Given the description of an element on the screen output the (x, y) to click on. 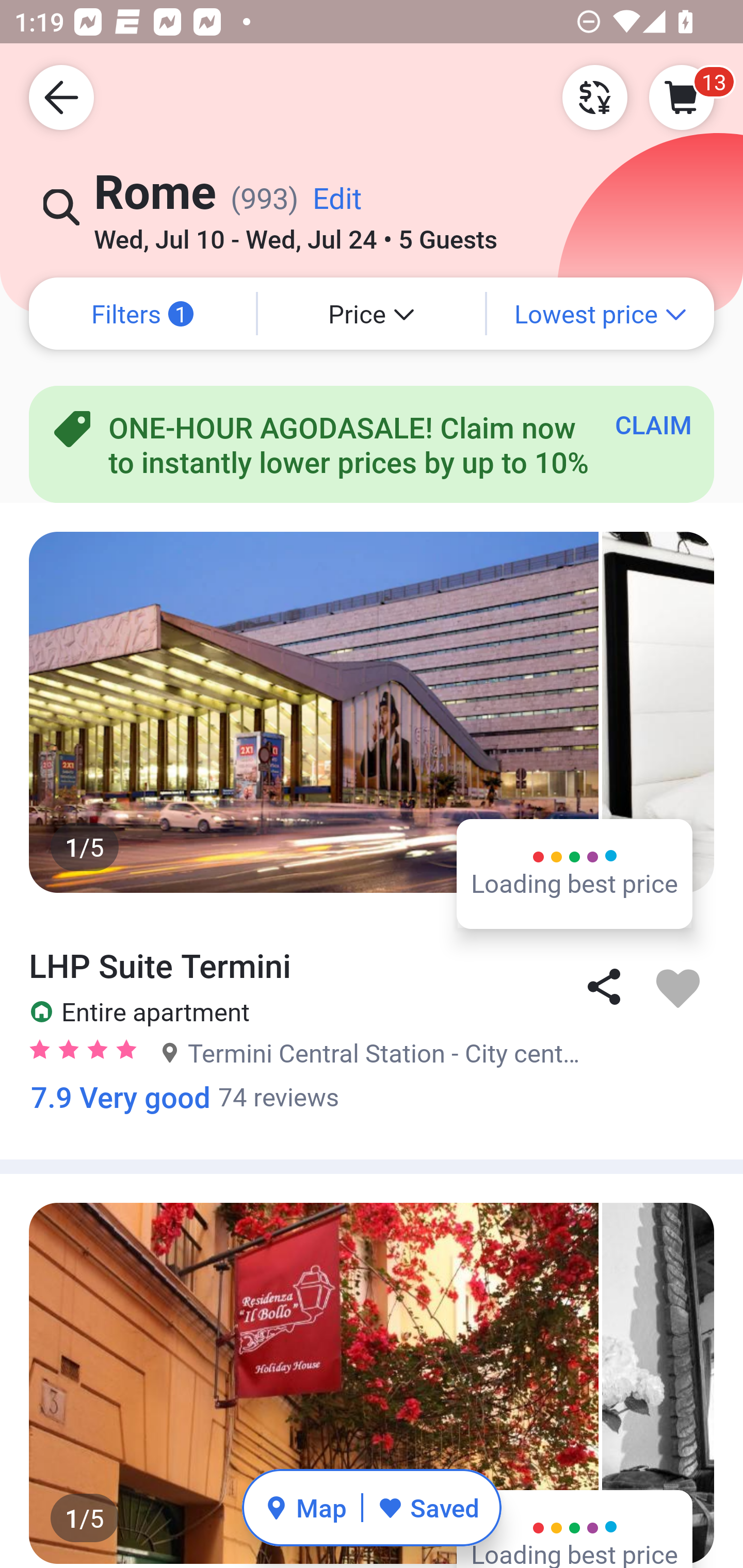
Wed, Jul 10 - Wed, Jul 24 • 5 Guests (295, 232)
Filters 1 (141, 313)
Price (371, 313)
Lowest price (600, 313)
CLAIM (653, 424)
1/5 (371, 711)
Loading best price (574, 873)
1/5 (371, 1382)
Map (305, 1507)
Saved (428, 1507)
Loading best price (574, 1528)
